Given the description of an element on the screen output the (x, y) to click on. 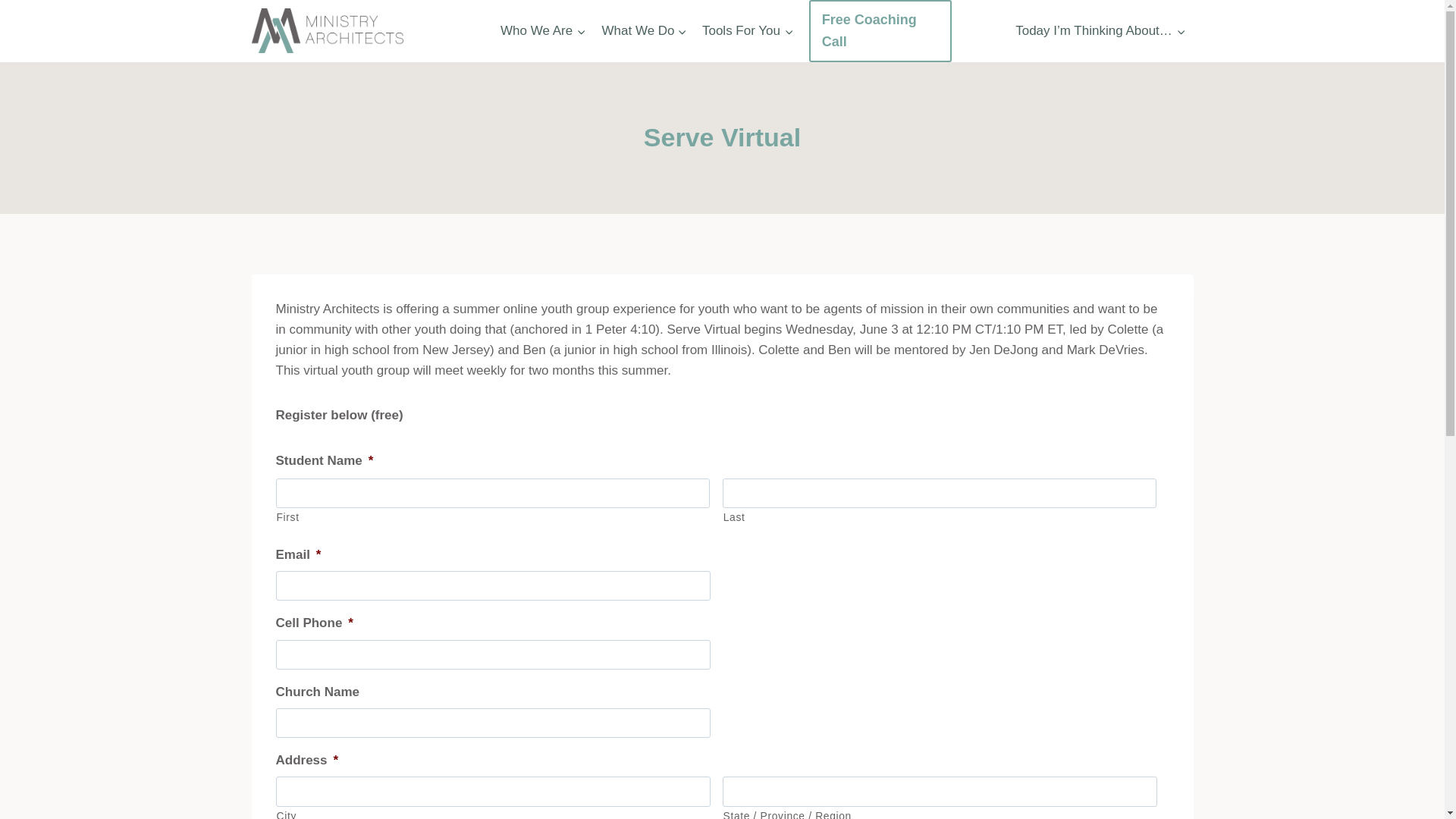
Free Coaching Call (880, 31)
Tools For You (747, 31)
What We Do (644, 31)
Who We Are (543, 31)
